Given the description of an element on the screen output the (x, y) to click on. 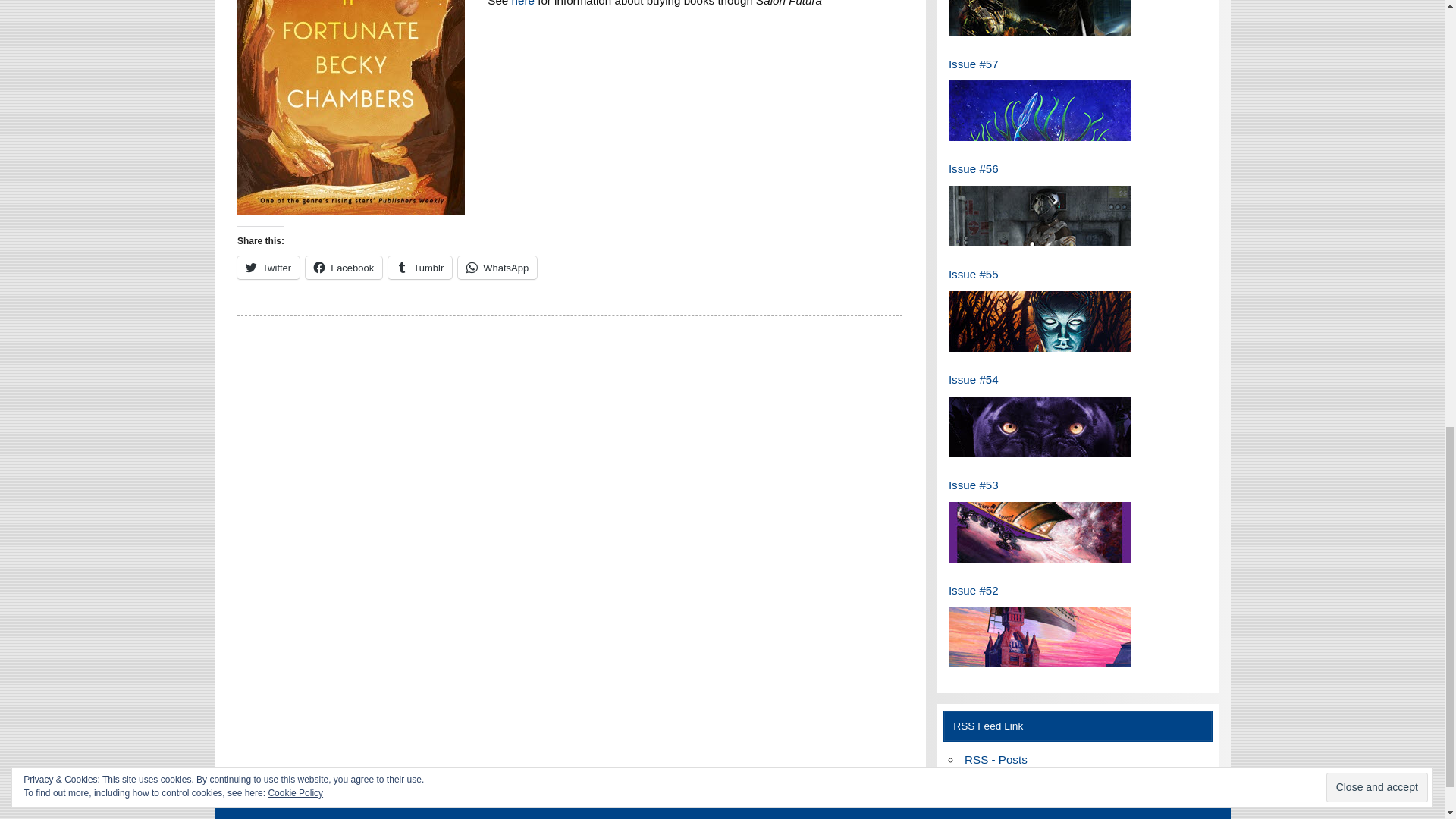
Facebook (343, 267)
Tumblr (419, 267)
here (523, 3)
Click to share on WhatsApp (497, 267)
WhatsApp (497, 267)
Click to share on Facebook (343, 267)
Click to share on Tumblr (419, 267)
Click to share on Twitter (268, 267)
Twitter (268, 267)
